Given the description of an element on the screen output the (x, y) to click on. 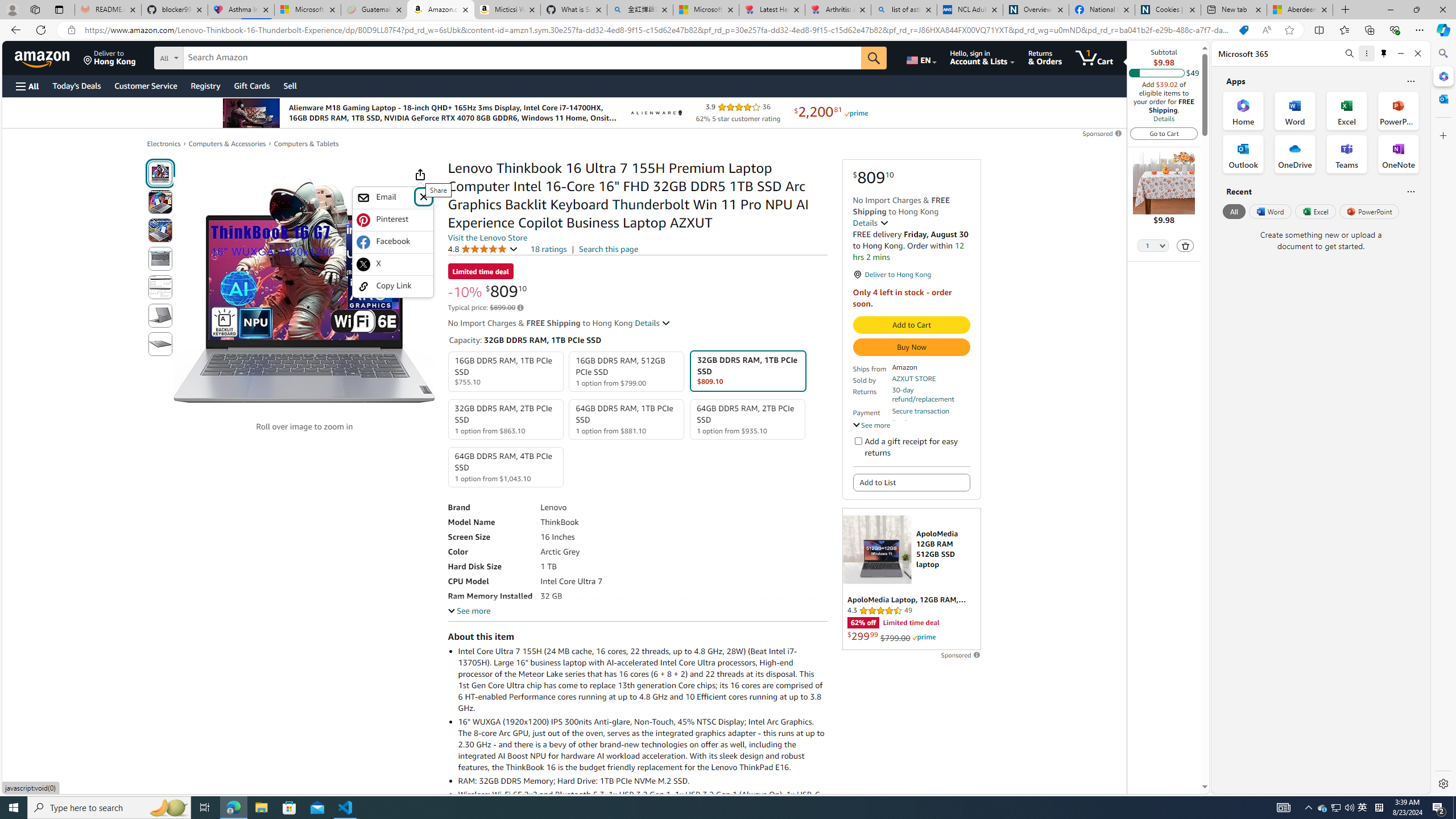
Add to Cart (911, 324)
Search this page (608, 248)
Excel (1315, 210)
Buy Now (911, 347)
Search in (210, 56)
Excel Office App (1346, 110)
Close Share Popup (423, 196)
Computers & Accessories (226, 143)
PowerPoint (1369, 210)
